Given the description of an element on the screen output the (x, y) to click on. 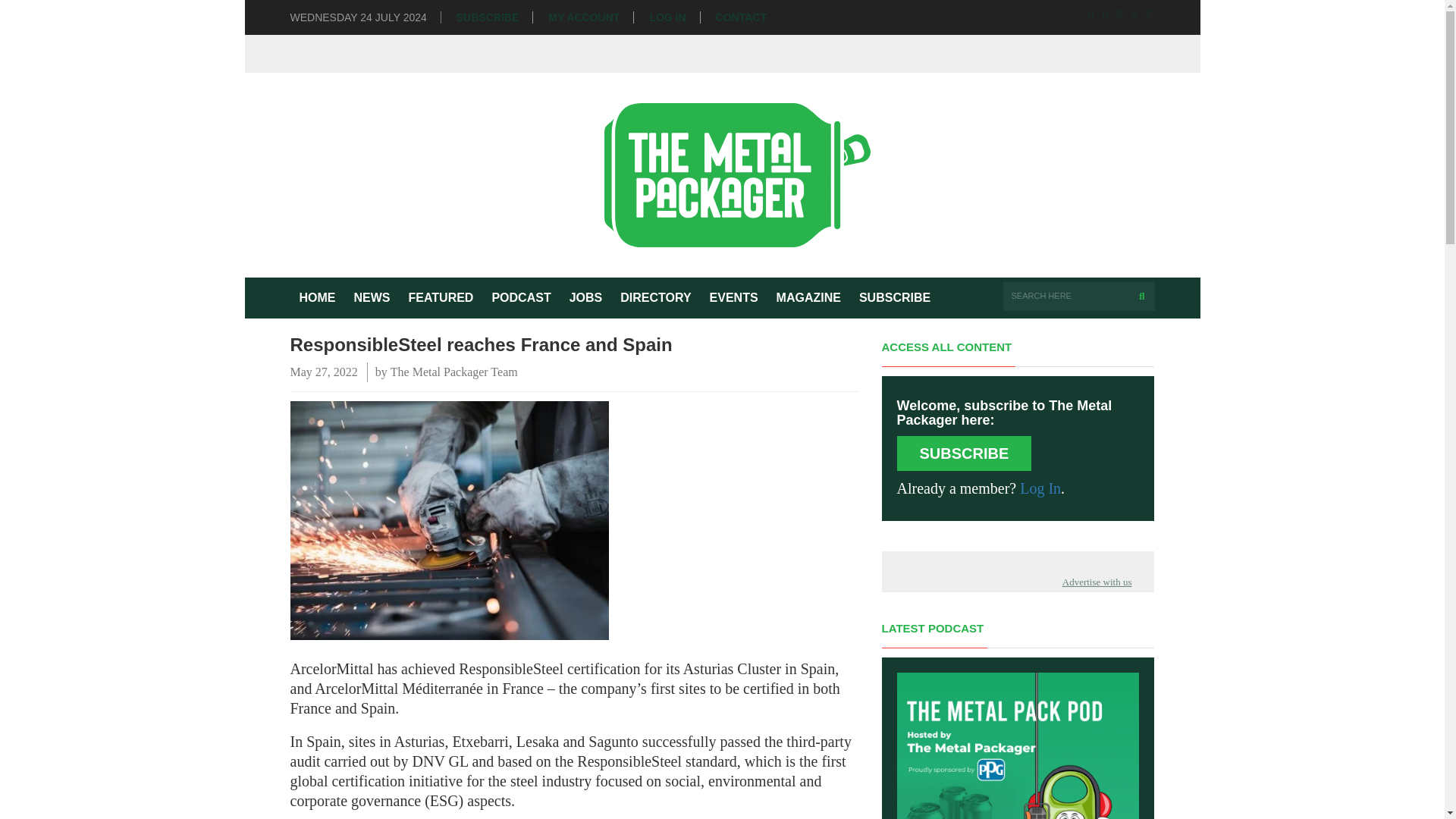
Magazine (808, 297)
Podcast (520, 297)
DIRECTORY (655, 297)
The Metal Packager Team (454, 372)
MY ACCOUNT (584, 17)
JOBS (585, 297)
SUBSCRIBE (894, 297)
Home (316, 297)
News (370, 297)
HOME (316, 297)
Directory (655, 297)
EVENTS (733, 297)
LOG IN (667, 17)
FEATURED (439, 297)
Jobs (585, 297)
